Given the description of an element on the screen output the (x, y) to click on. 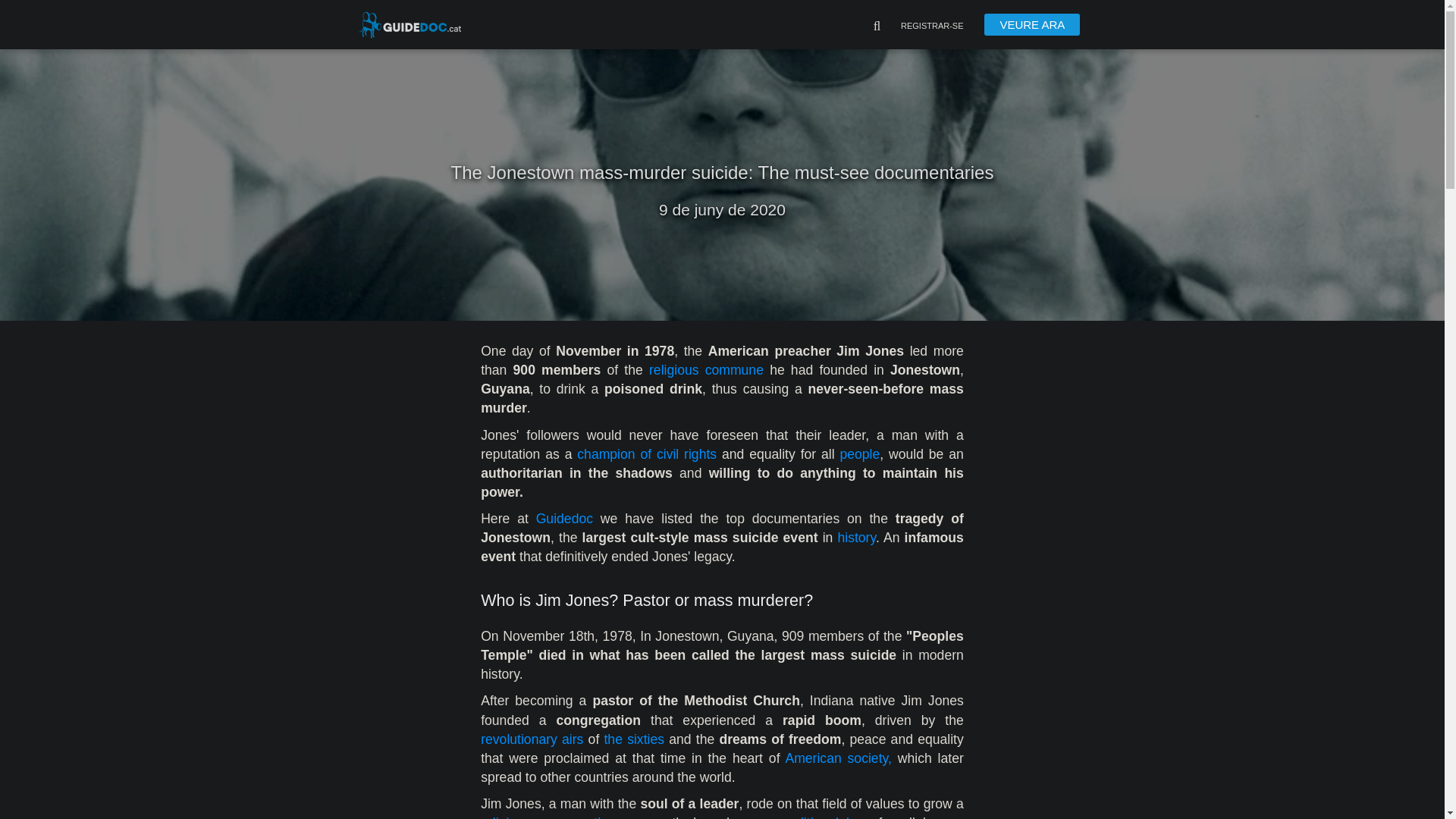
religious commune (705, 369)
REGISTRAR-SE (932, 26)
VEURE ARA (1032, 24)
revolutionary airs (531, 739)
unconditional love (815, 816)
religious congregation (547, 816)
champion of civil rights (646, 453)
people (859, 453)
history (856, 537)
Guidedoc (563, 518)
the sixties (633, 739)
American society, (837, 758)
